Given the description of an element on the screen output the (x, y) to click on. 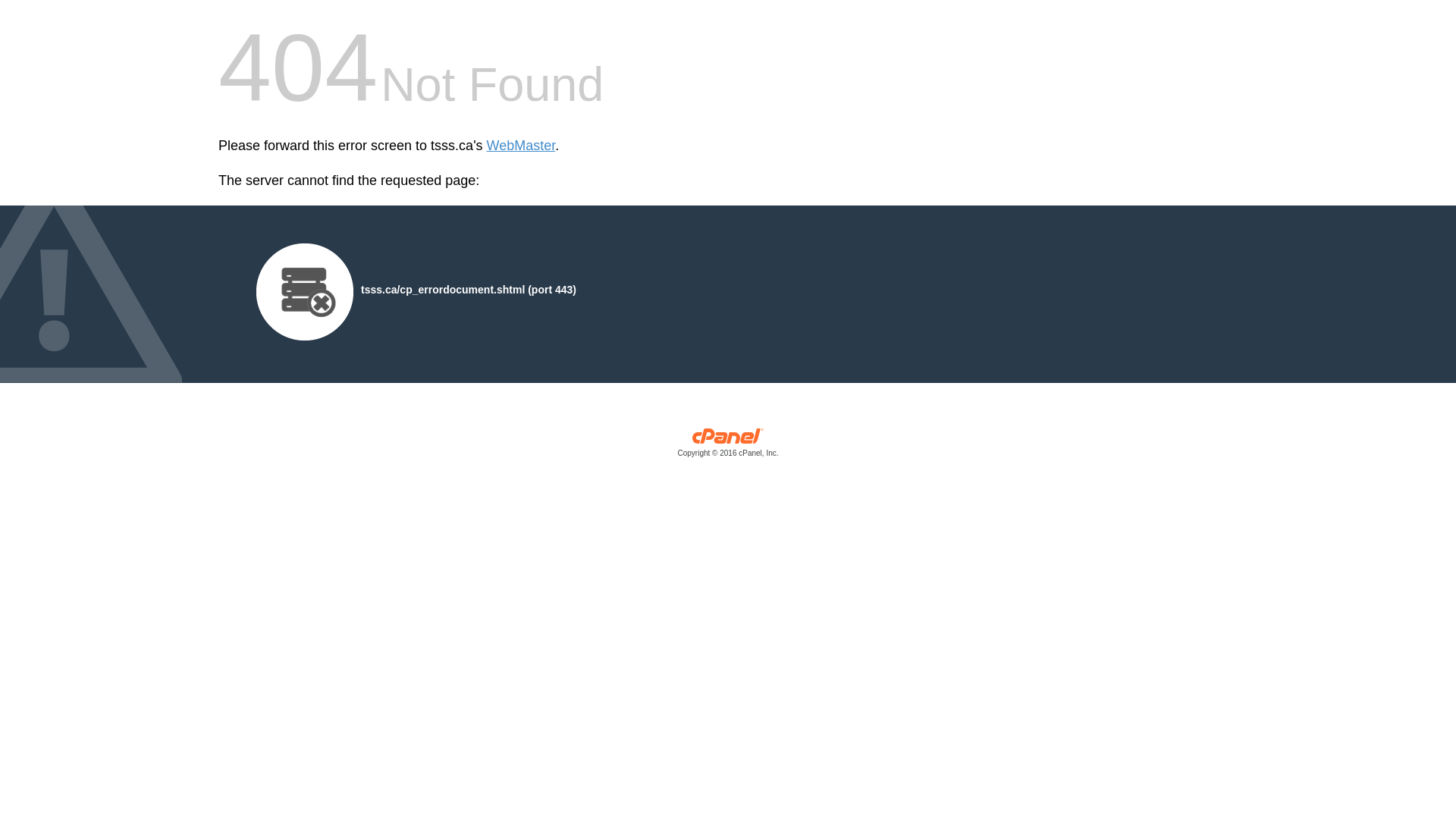
cPanel, Inc. (727, 446)
WebMaster (521, 145)
